Given the description of an element on the screen output the (x, y) to click on. 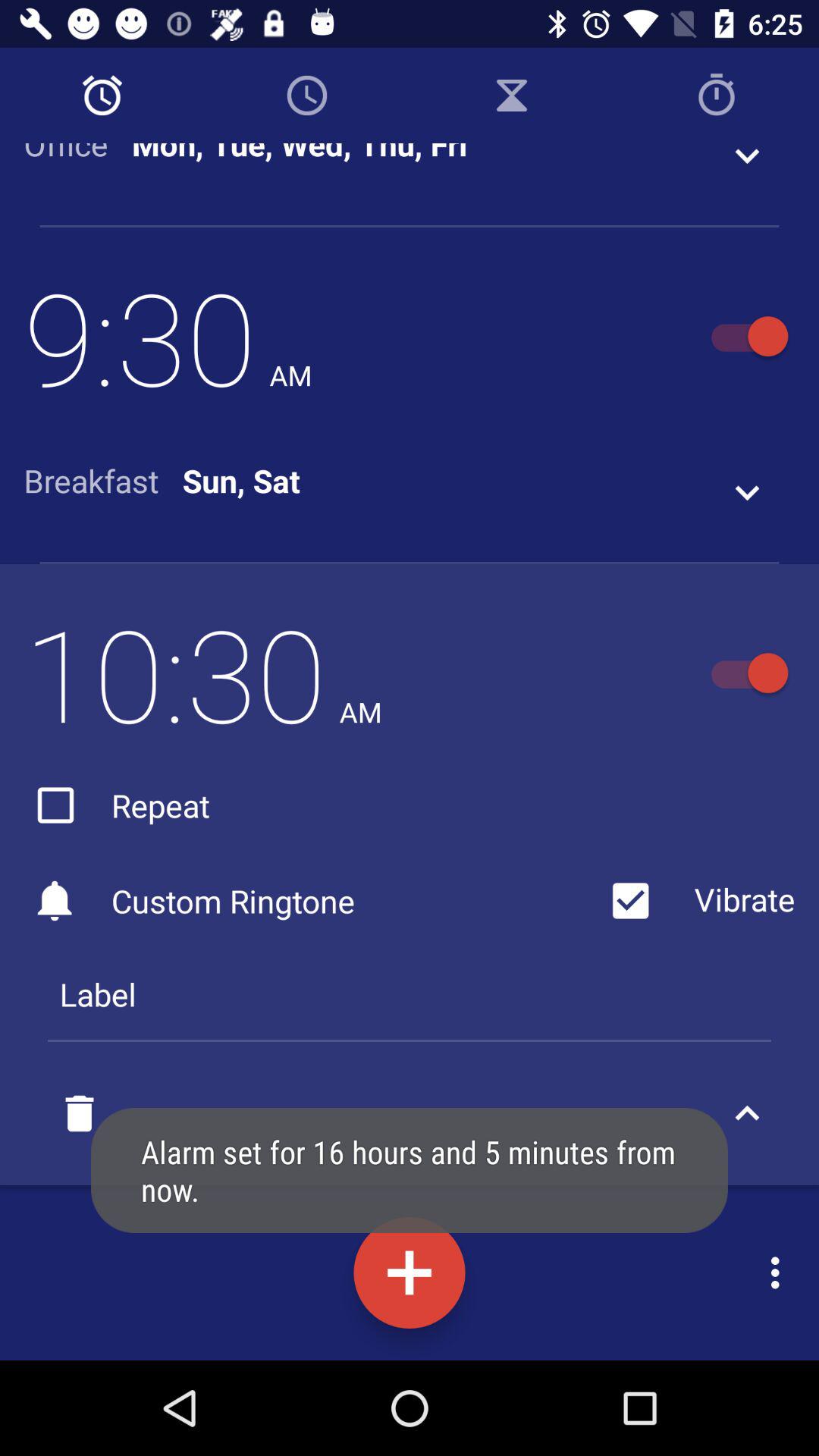
click the label icon (409, 993)
